Given the description of an element on the screen output the (x, y) to click on. 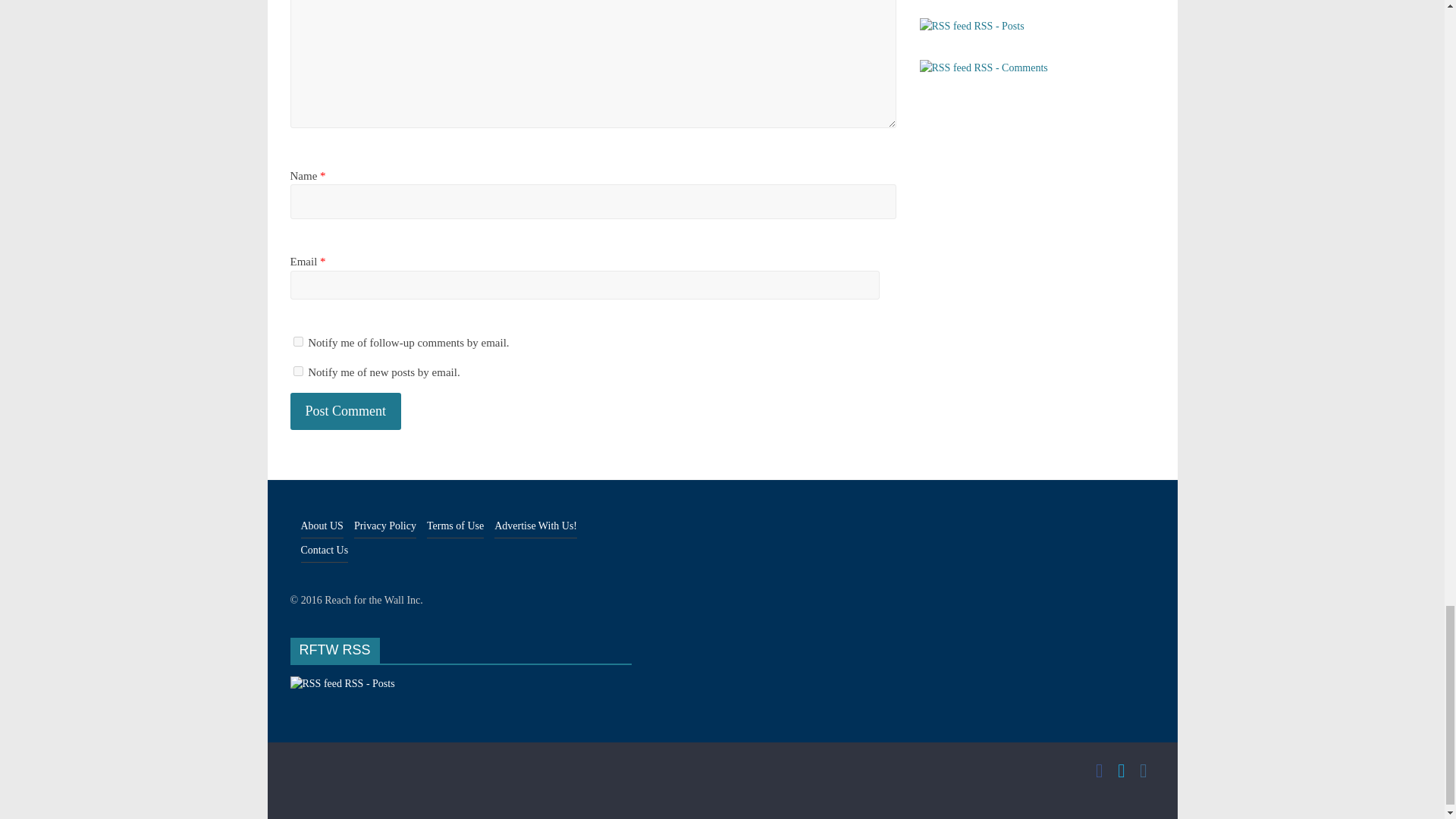
Post Comment (345, 411)
Subscribe to posts (970, 25)
Subscribe to comments (982, 67)
subscribe (297, 370)
Subscribe to posts (341, 683)
subscribe (297, 341)
Post Comment (345, 411)
